Given the description of an element on the screen output the (x, y) to click on. 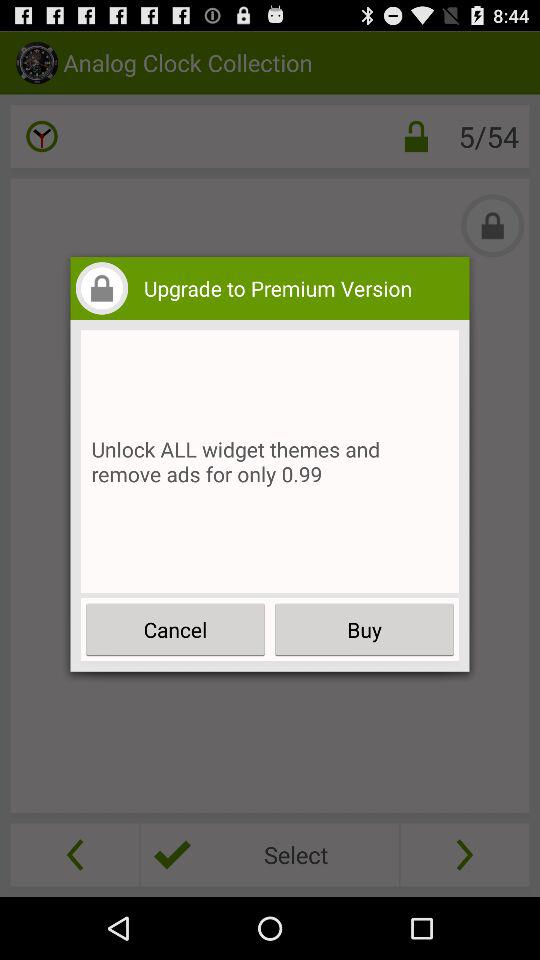
swipe to cancel (175, 629)
